Given the description of an element on the screen output the (x, y) to click on. 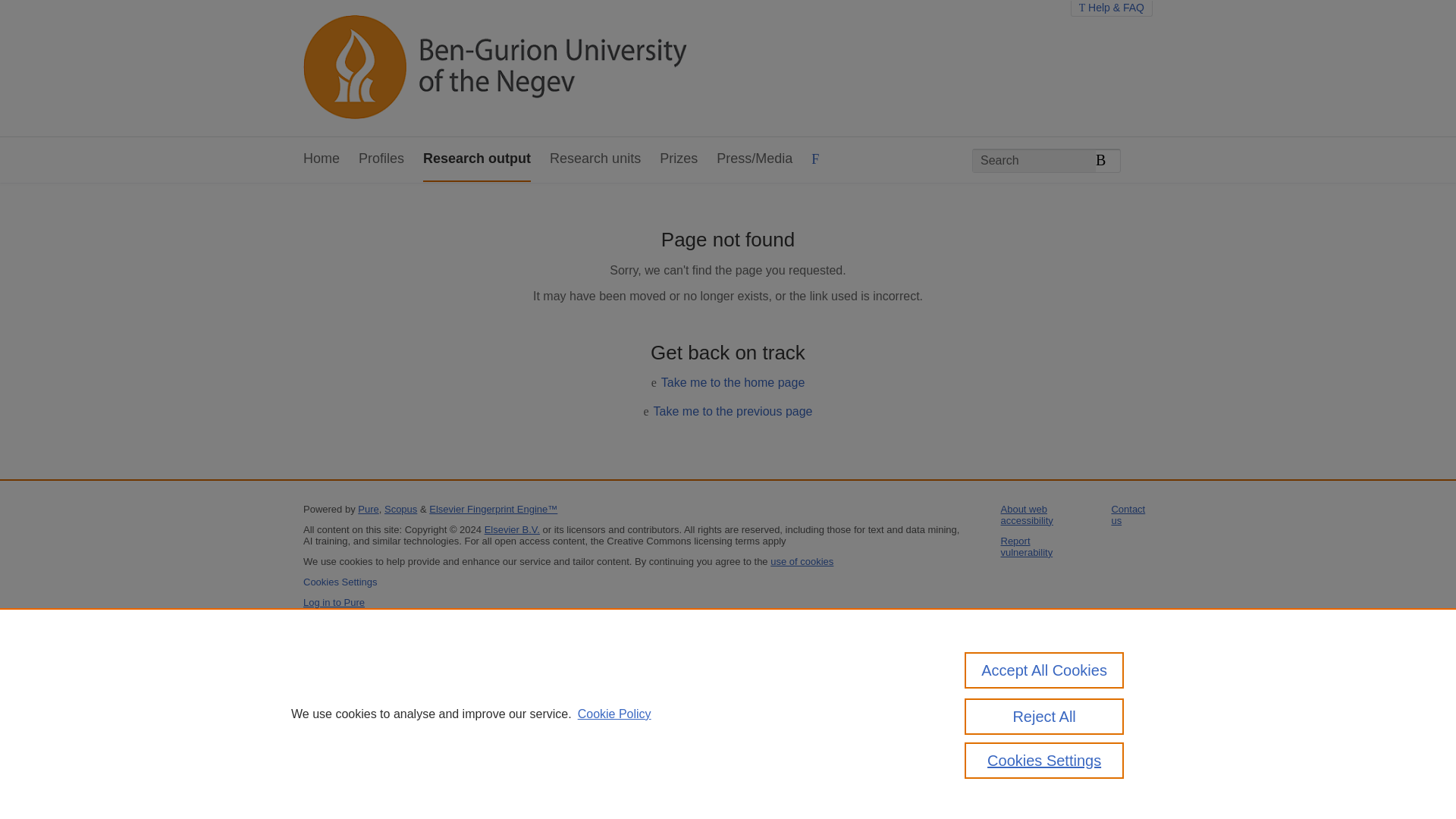
Profiles (381, 159)
Research output (477, 159)
Scopus (400, 509)
Take me to the previous page (732, 410)
Report vulnerability (1026, 546)
About web accessibility (1026, 514)
use of cookies (801, 561)
Research units (595, 159)
Ben-Gurion University Research Portal Home (494, 68)
Take me to the home page (733, 382)
